Given the description of an element on the screen output the (x, y) to click on. 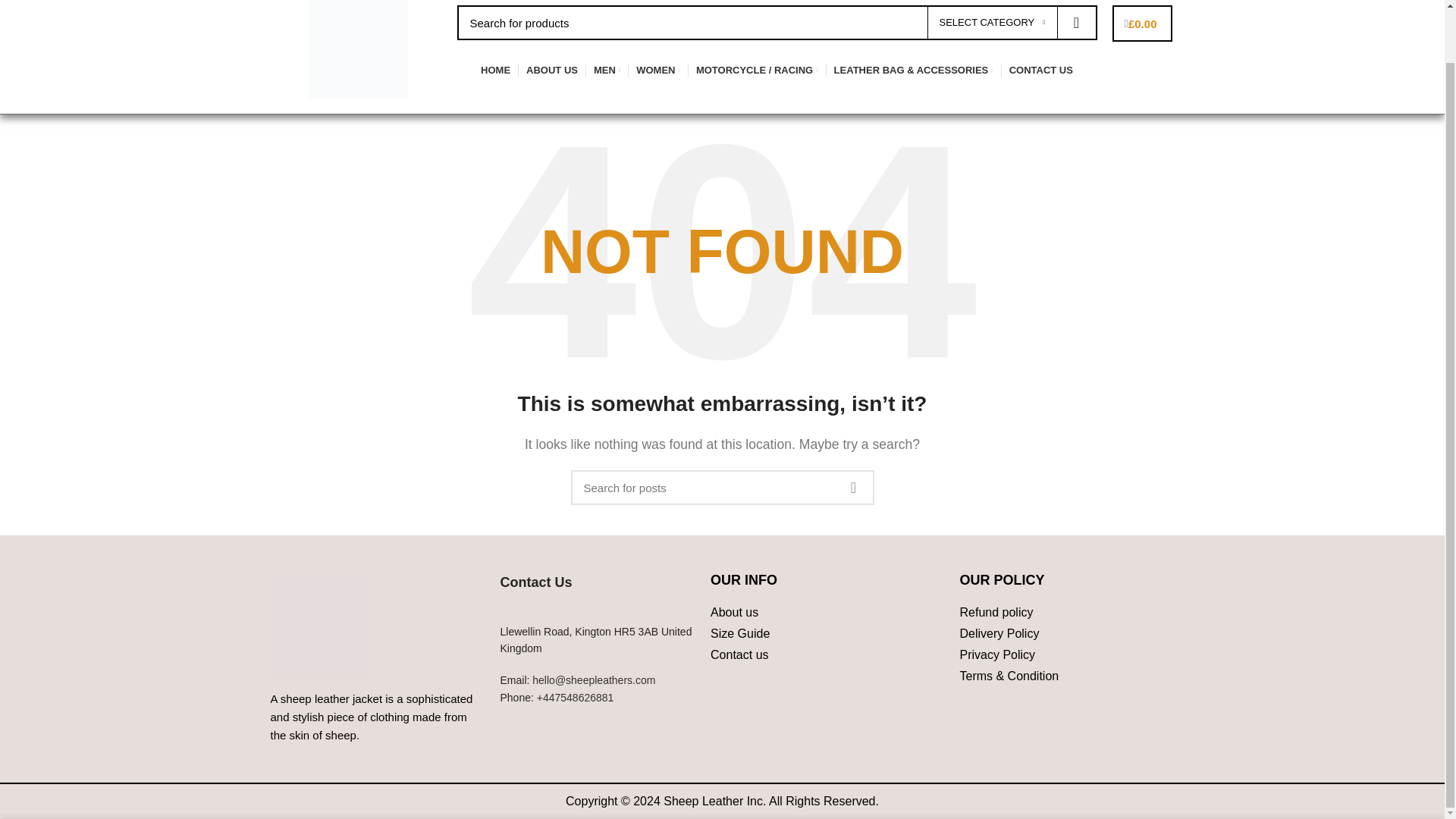
Search for posts (721, 487)
SELECT CATEGORY (991, 22)
SELECT CATEGORY (991, 22)
Search for products (776, 22)
